Given the description of an element on the screen output the (x, y) to click on. 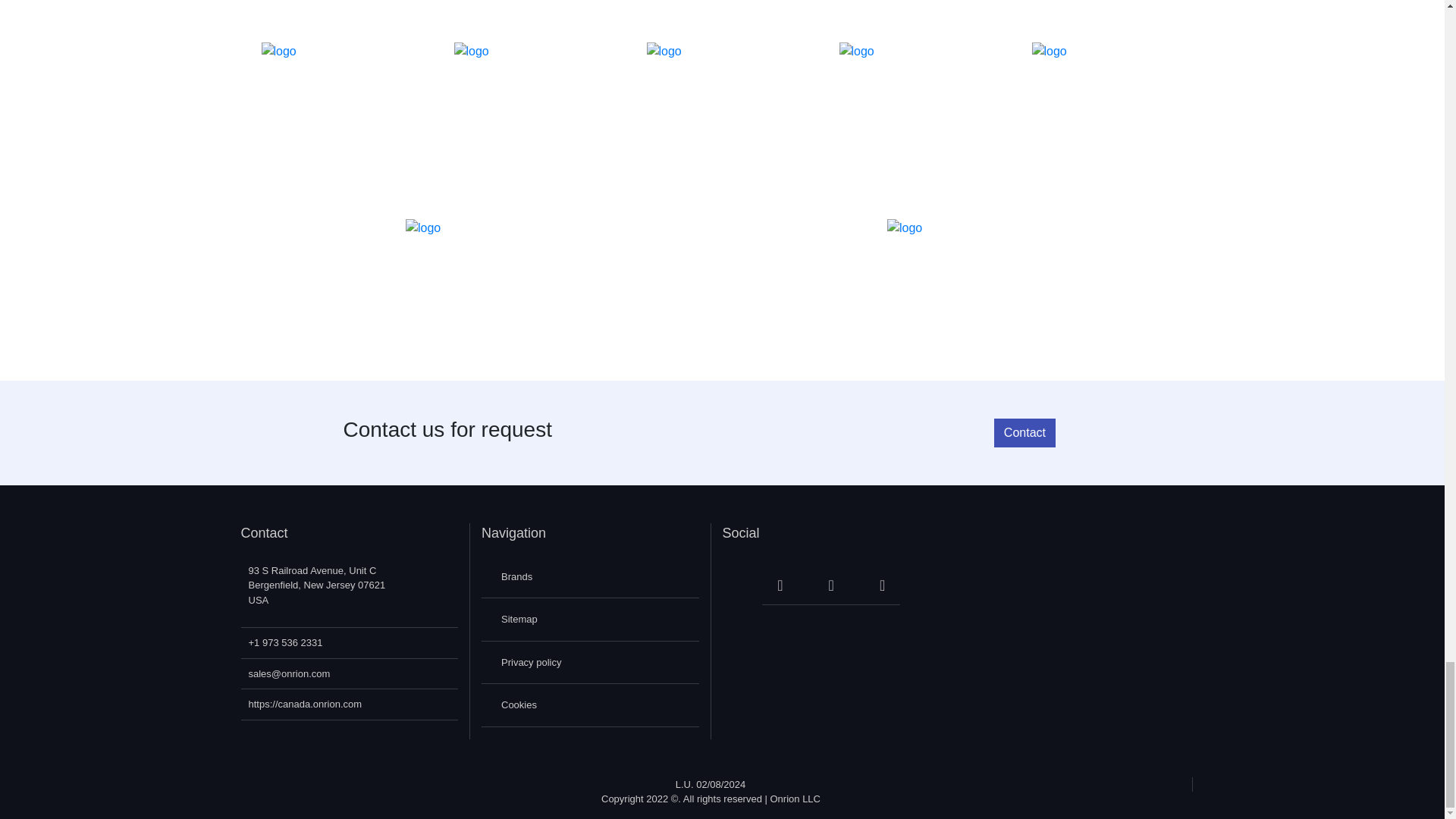
Cermate Technologies (721, 5)
Flex-Core (914, 115)
instagram (823, 587)
Bedia (528, 5)
linkedin (874, 587)
Flucom (1106, 115)
Domange (336, 115)
Chelic (914, 5)
Avg (336, 5)
Fabrimex (721, 115)
